Given the description of an element on the screen output the (x, y) to click on. 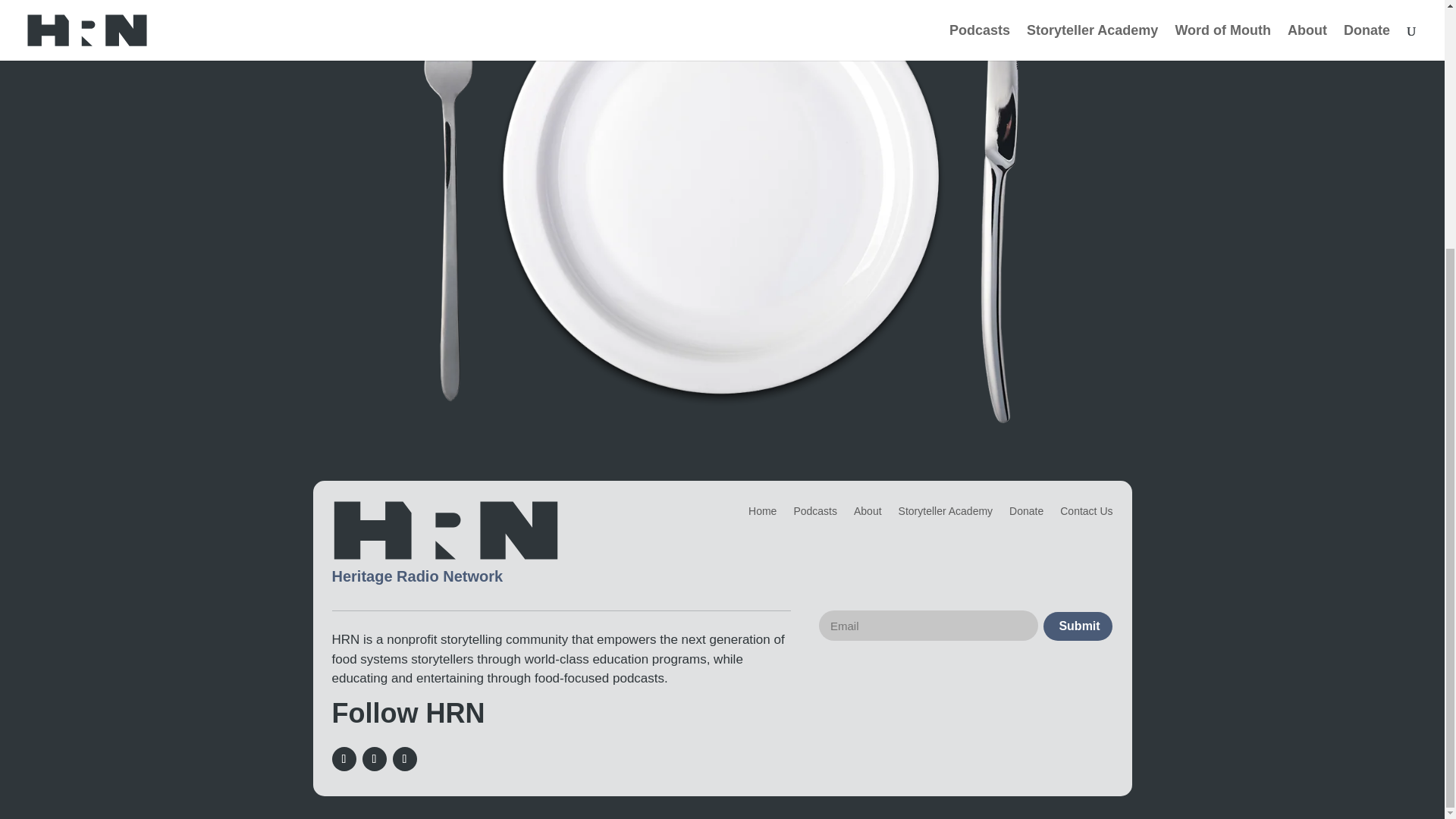
Contact Us (1085, 514)
Submit (1077, 625)
Follow on Facebook (343, 758)
Submit (1077, 625)
Home (762, 514)
About (867, 514)
Donate (1026, 514)
Follow on Instagram (404, 758)
Podcasts (815, 514)
Storyteller Academy (945, 514)
Follow on X (374, 758)
